Given the description of an element on the screen output the (x, y) to click on. 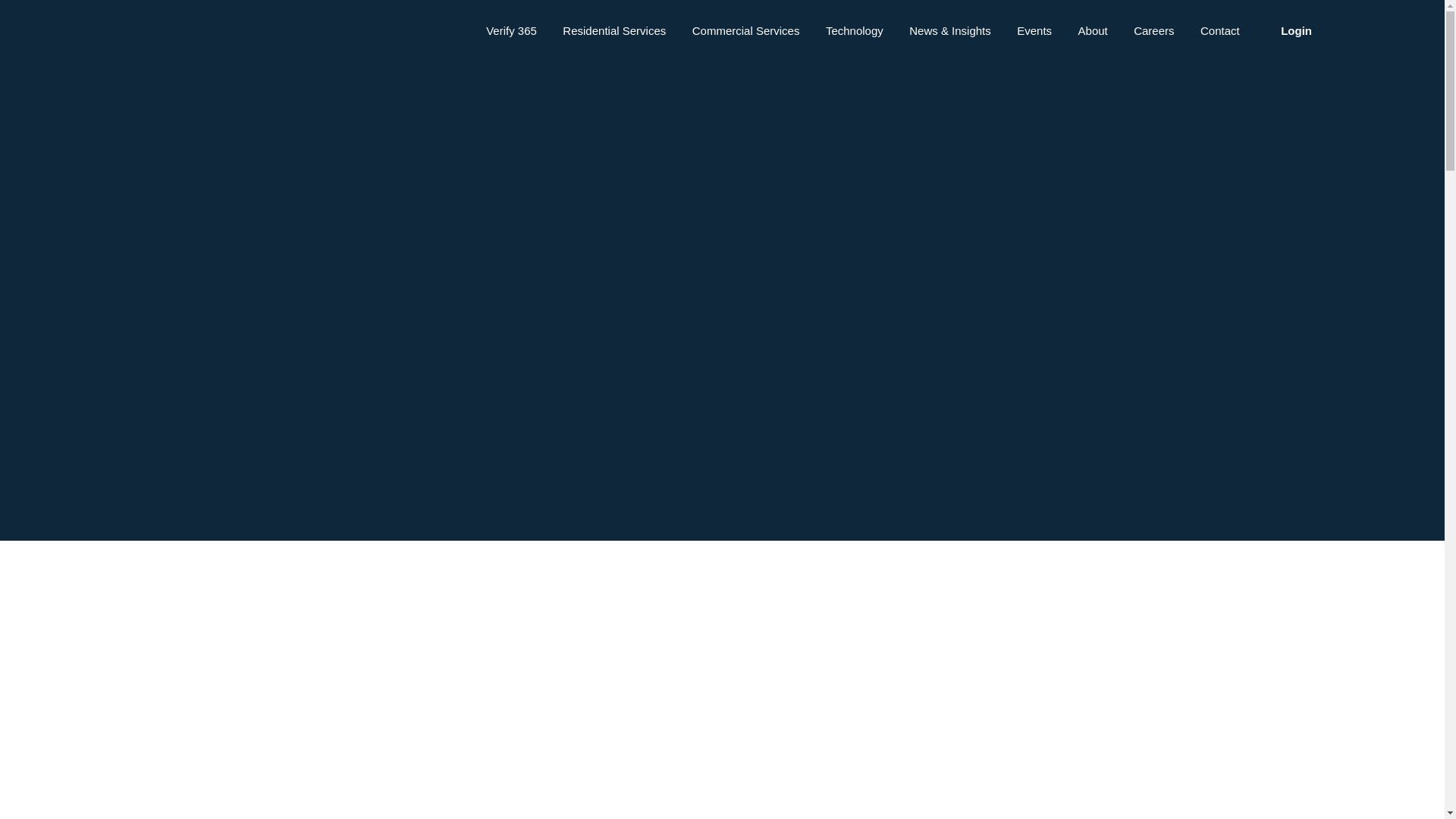
Search (277, 34)
Residential Services (613, 33)
Commercial Services (746, 33)
